Given the description of an element on the screen output the (x, y) to click on. 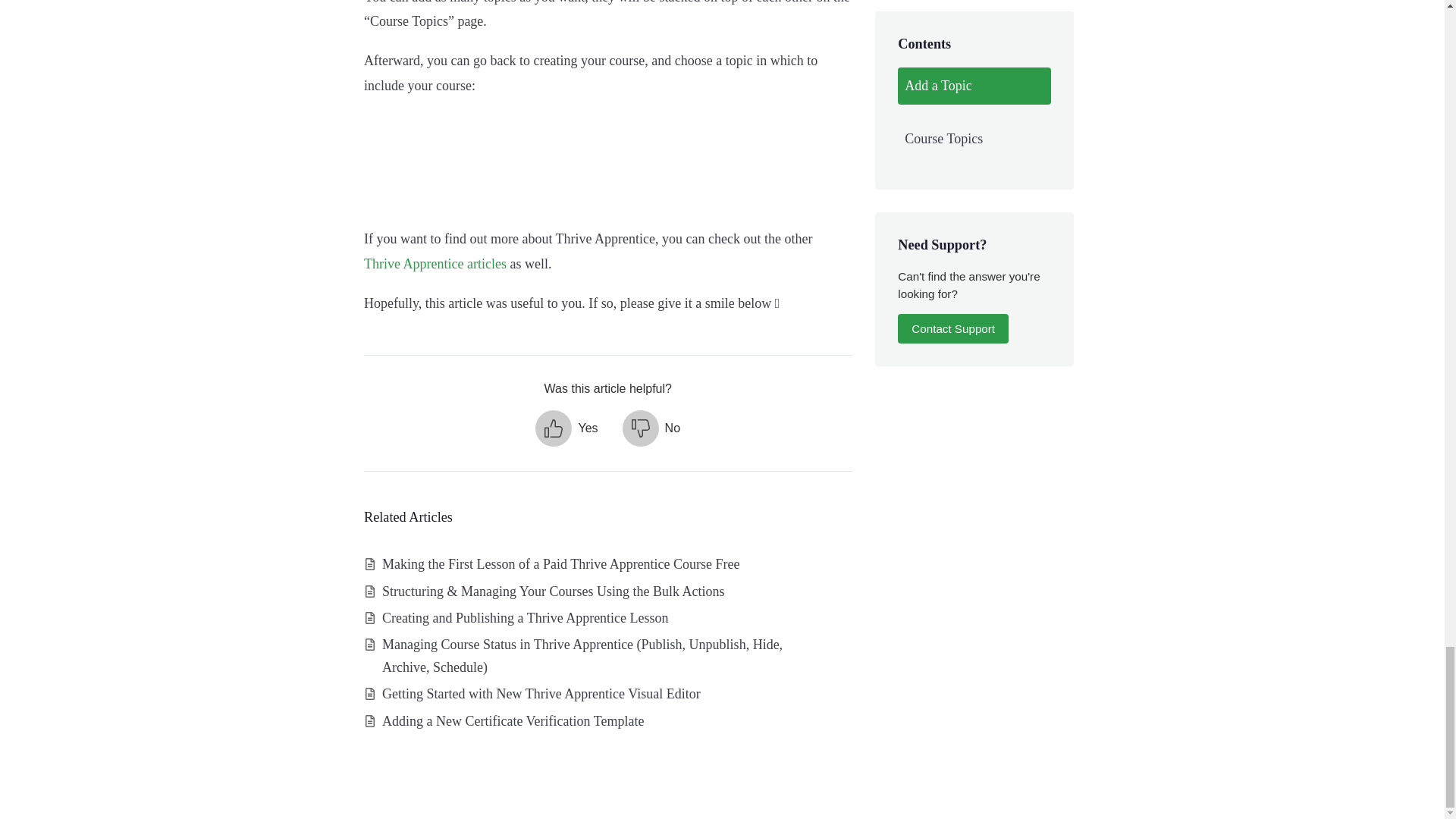
Adding a New Certificate Verification Template (512, 720)
No (651, 428)
Creating and Publishing a Thrive Apprentice Lesson (524, 617)
Getting Started with New Thrive Apprentice Visual Editor (540, 693)
Yes (565, 428)
Thrive Apprentice articles (435, 263)
